Given the description of an element on the screen output the (x, y) to click on. 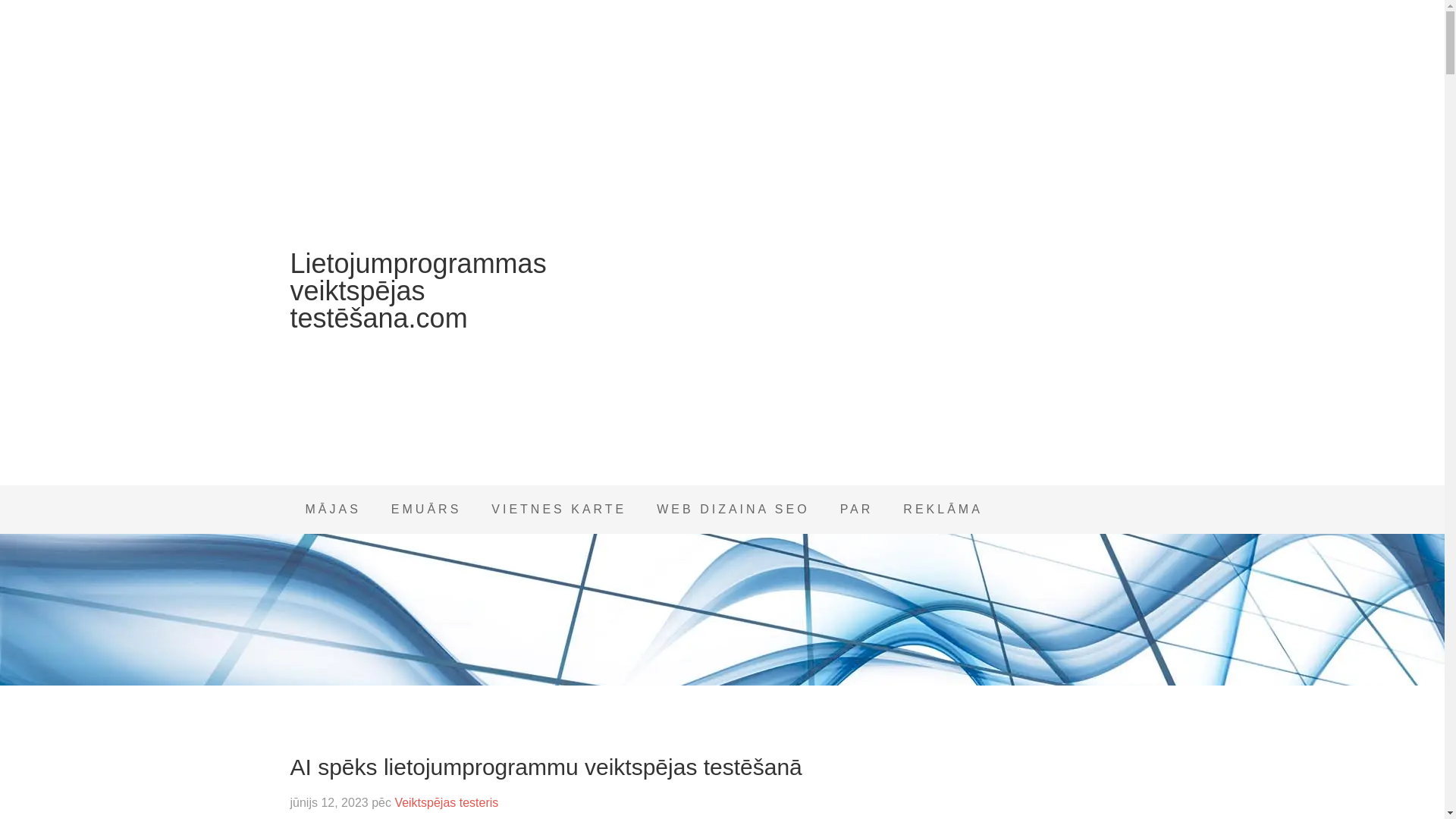
PAR (856, 509)
Advertisement (1017, 782)
Advertisement (850, 348)
VIETNES KARTE (559, 509)
WEB DIZAINA SEO (733, 509)
